Given the description of an element on the screen output the (x, y) to click on. 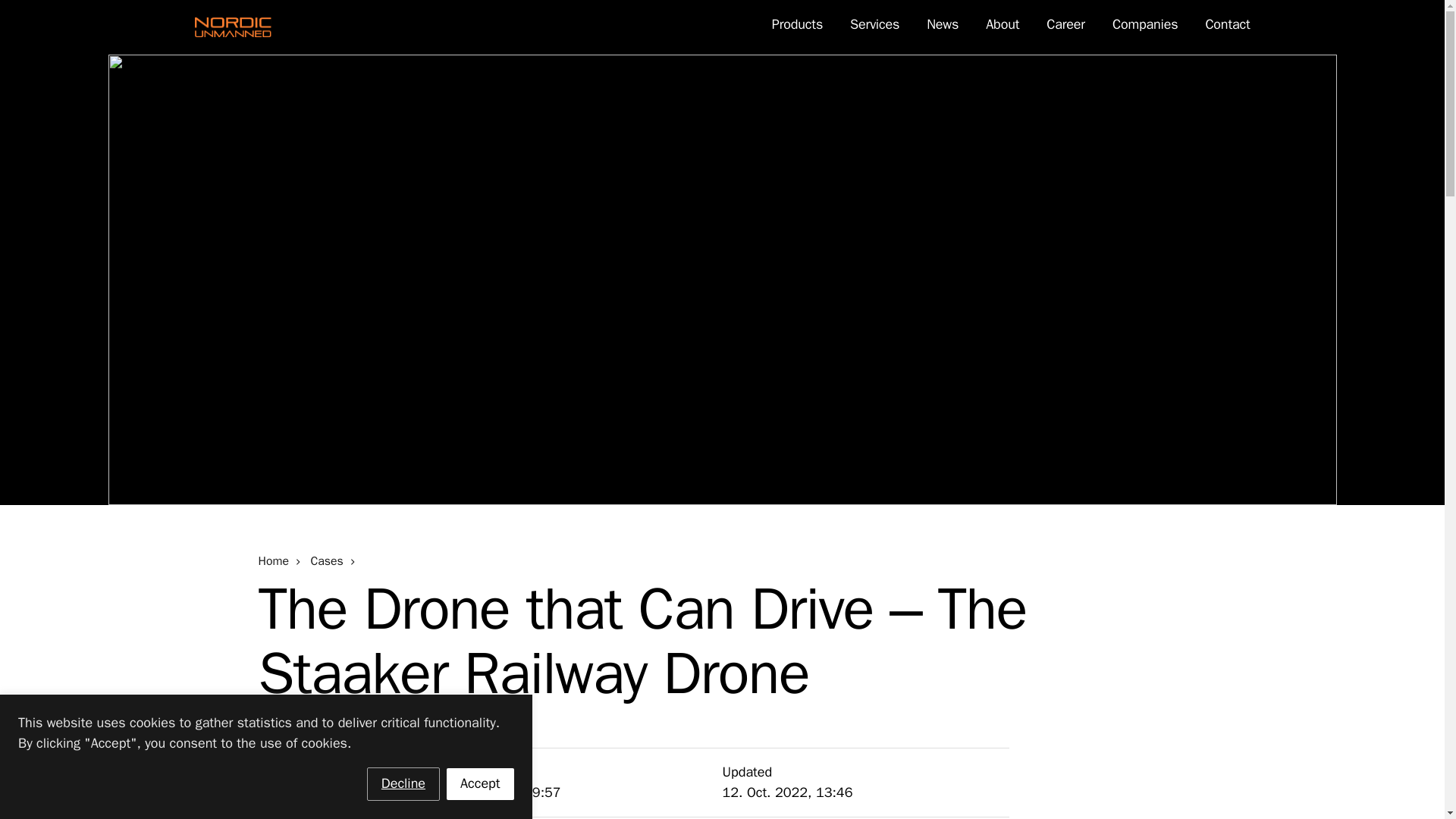
Cases (324, 561)
Contact (1227, 24)
Career (1065, 24)
Home (272, 561)
Products (796, 24)
Services (874, 24)
About (1002, 24)
News (942, 24)
Companies (1144, 24)
